Given the description of an element on the screen output the (x, y) to click on. 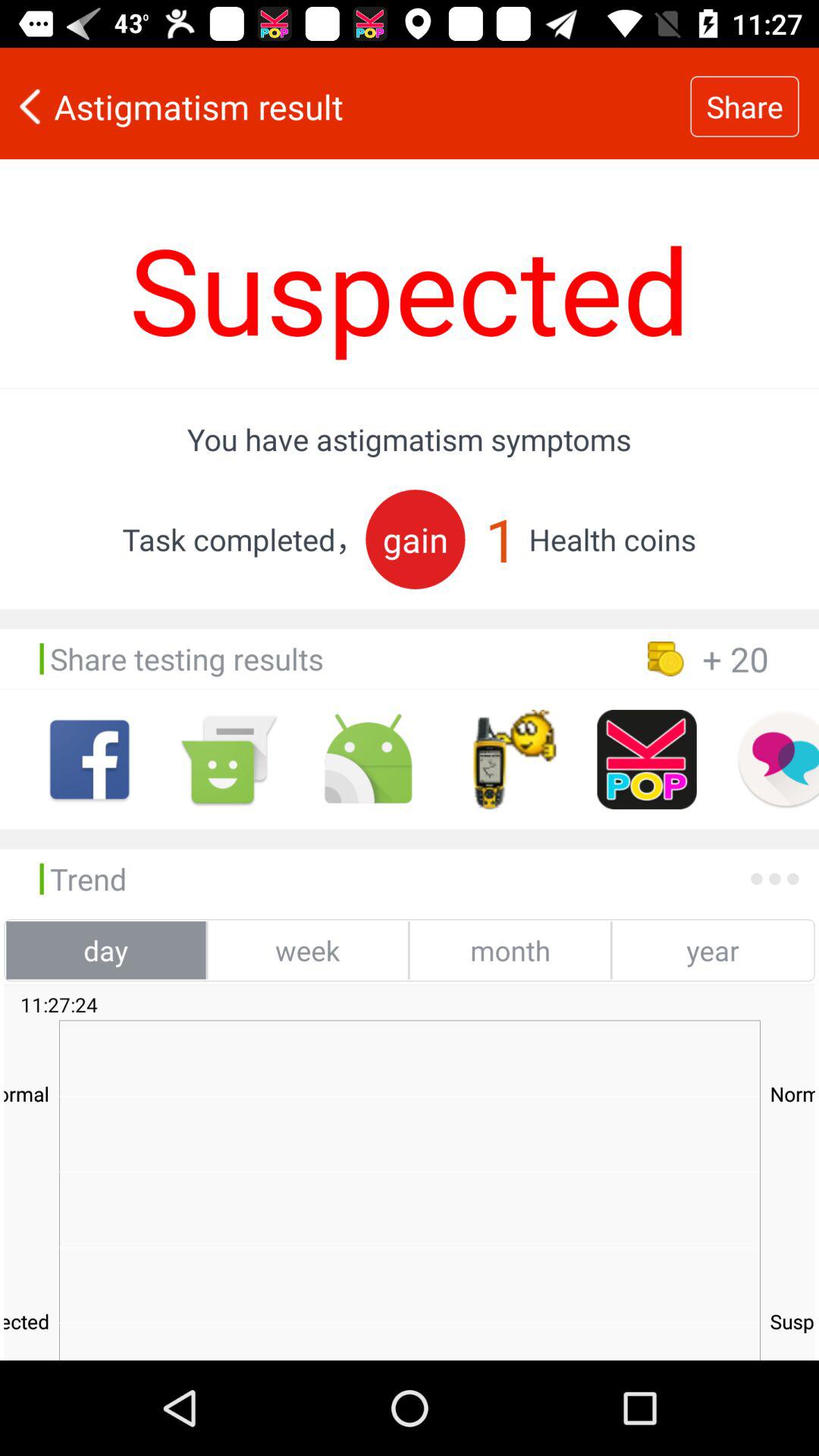
share with this (368, 759)
